Given the description of an element on the screen output the (x, y) to click on. 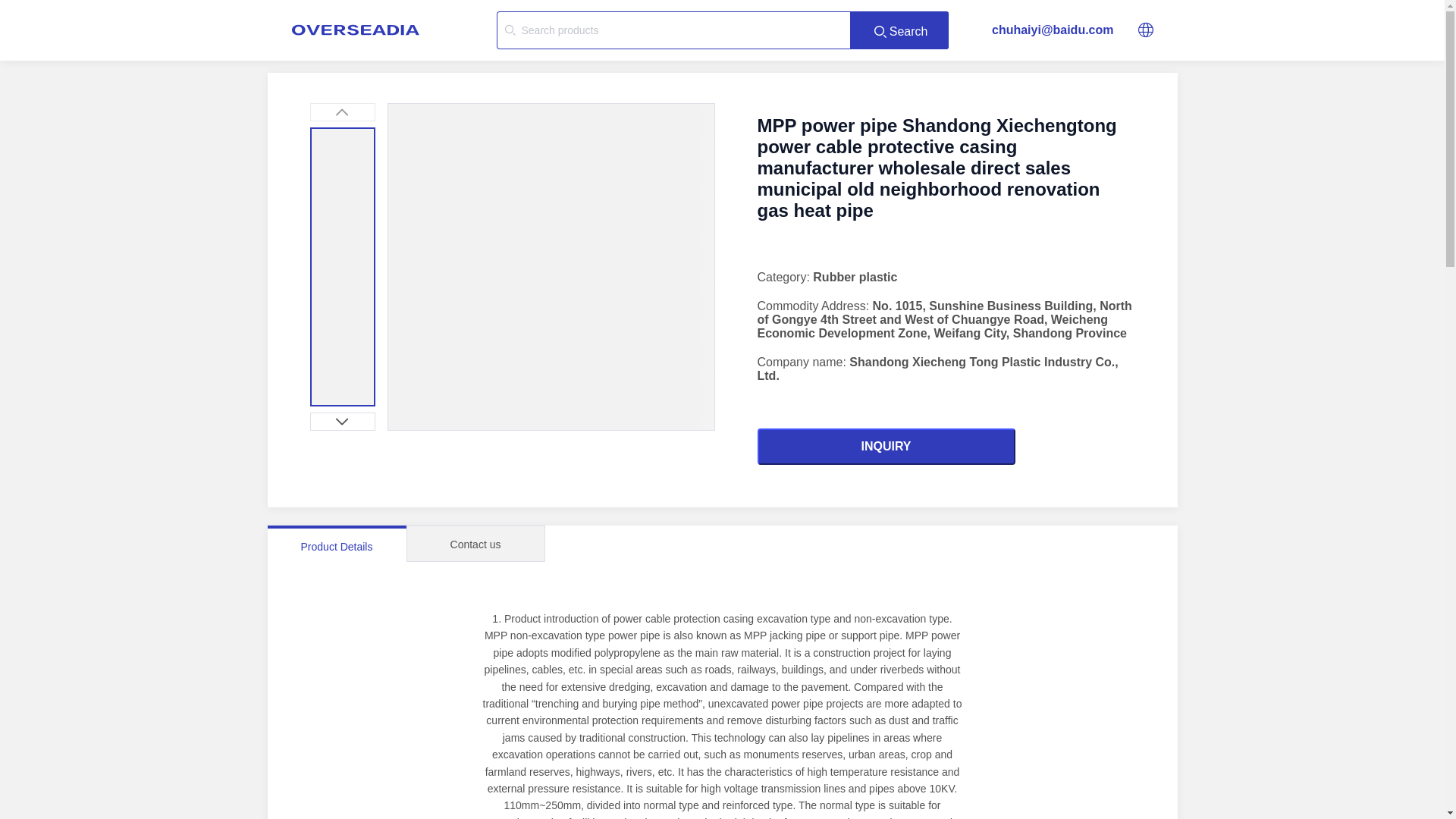
Search (899, 30)
INQUIRY (885, 446)
